Given the description of an element on the screen output the (x, y) to click on. 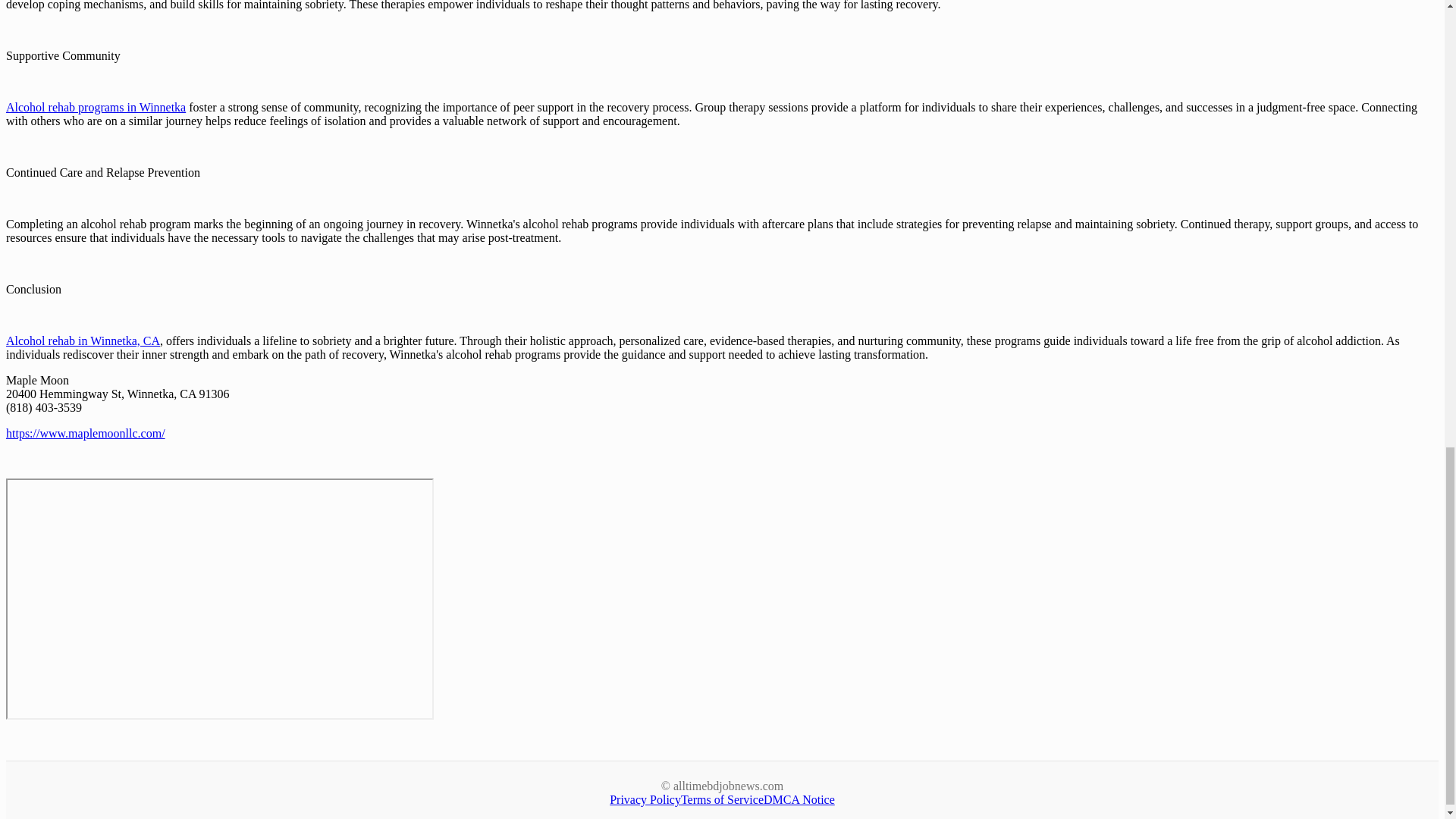
Terms of Service (721, 799)
Privacy Policy (645, 799)
Alcohol rehab programs in Winnetka (95, 106)
Alcohol rehab in Winnetka, CA (82, 340)
DMCA Notice (798, 799)
